Given the description of an element on the screen output the (x, y) to click on. 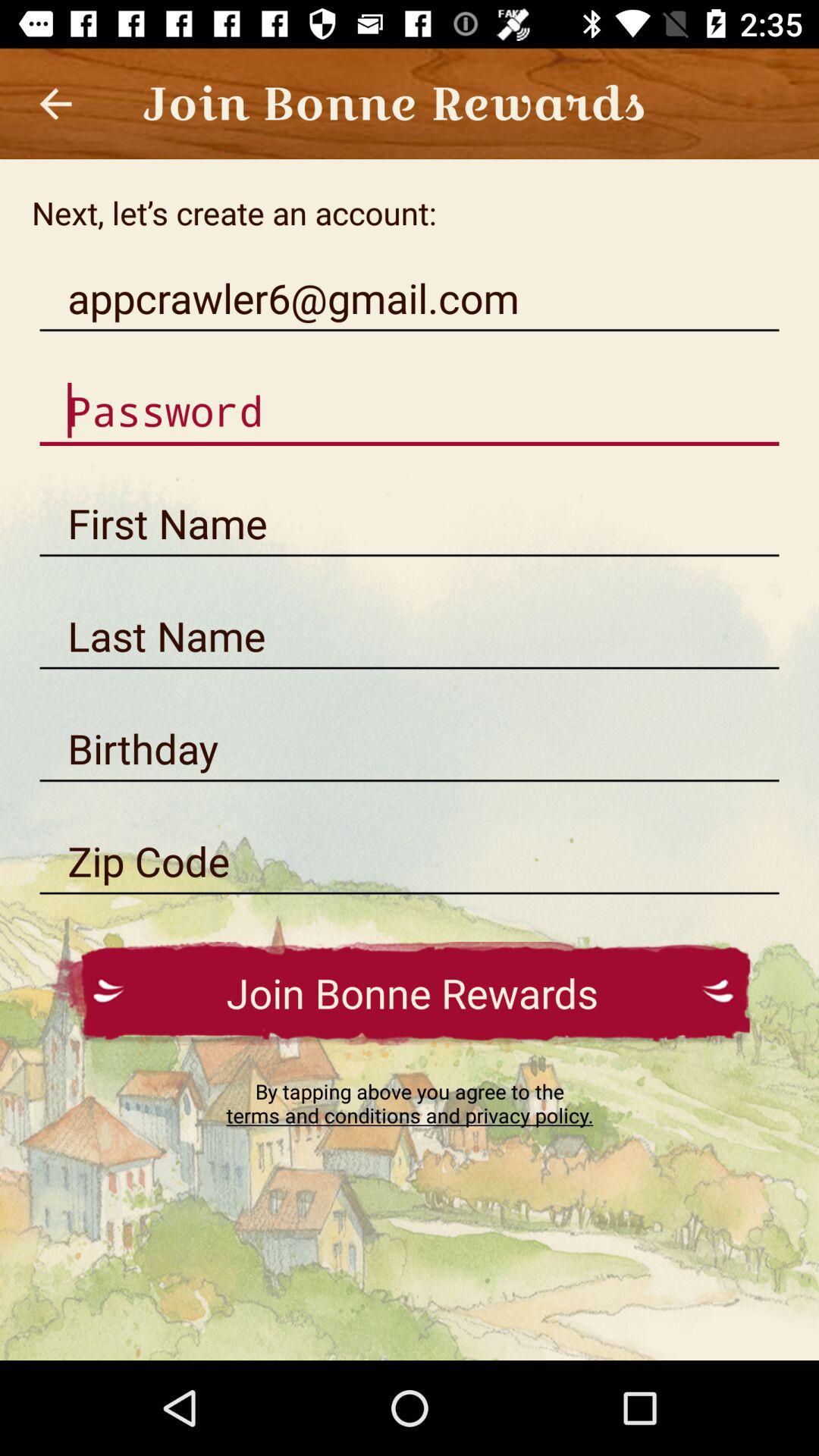
write last name (409, 636)
